Given the description of an element on the screen output the (x, y) to click on. 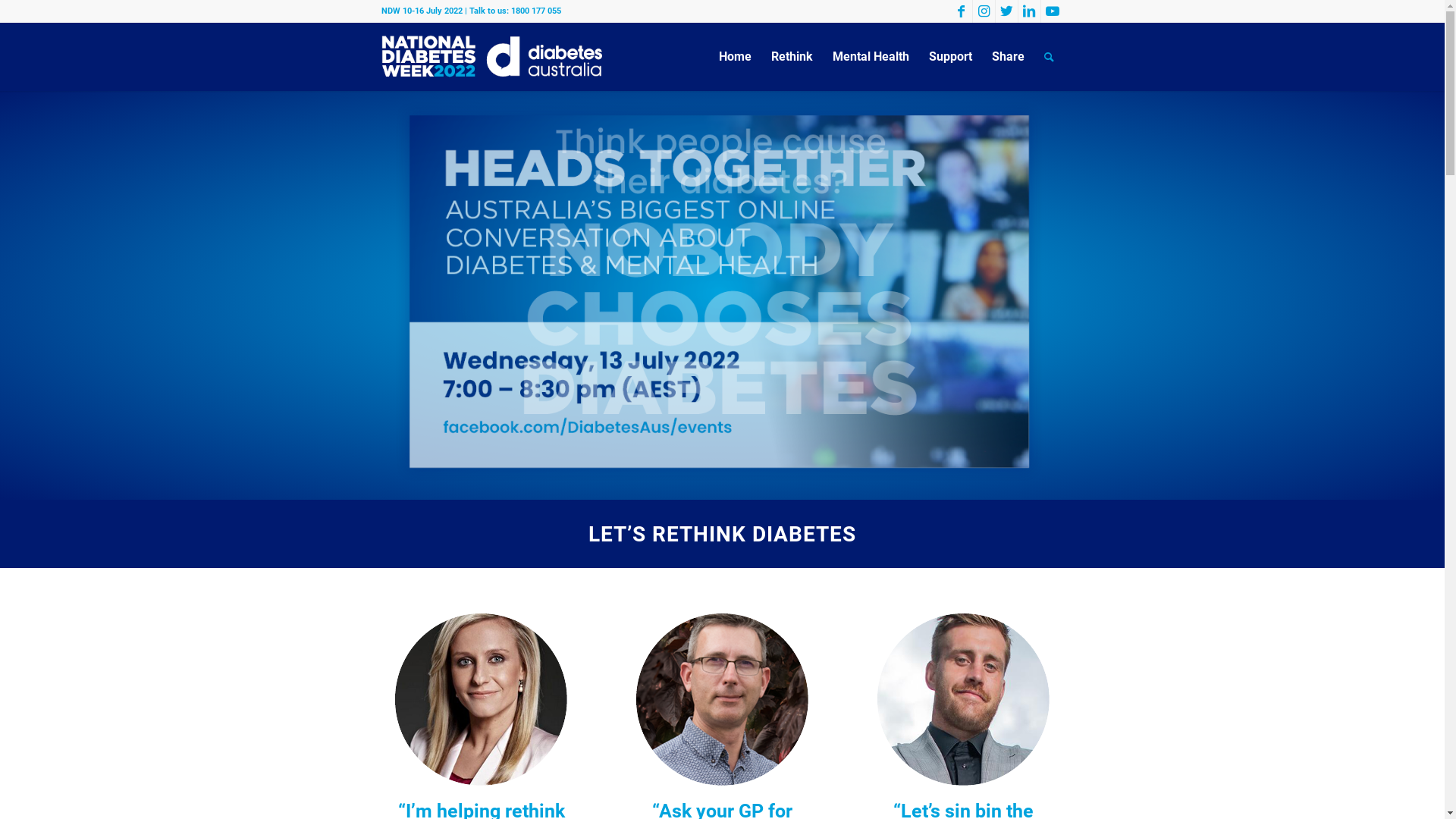
Home Element type: text (734, 56)
2022_da_ndw_microsite_konrad-kangru Element type: hover (722, 699)
LinkedIn Element type: hover (1028, 11)
2022_da_ndw_microsite_cameron-munster Element type: hover (963, 699)
Share Element type: text (1007, 56)
Facebook Element type: hover (960, 11)
Rethink Element type: text (791, 56)
Mental Health Element type: text (870, 56)
Support Element type: text (950, 56)
Youtube Element type: hover (1051, 11)
Twitter Element type: hover (1005, 11)
2022_da_ndw_microsite_gaby-rodgers Element type: hover (481, 699)
Instagram Element type: hover (983, 11)
